Given the description of an element on the screen output the (x, y) to click on. 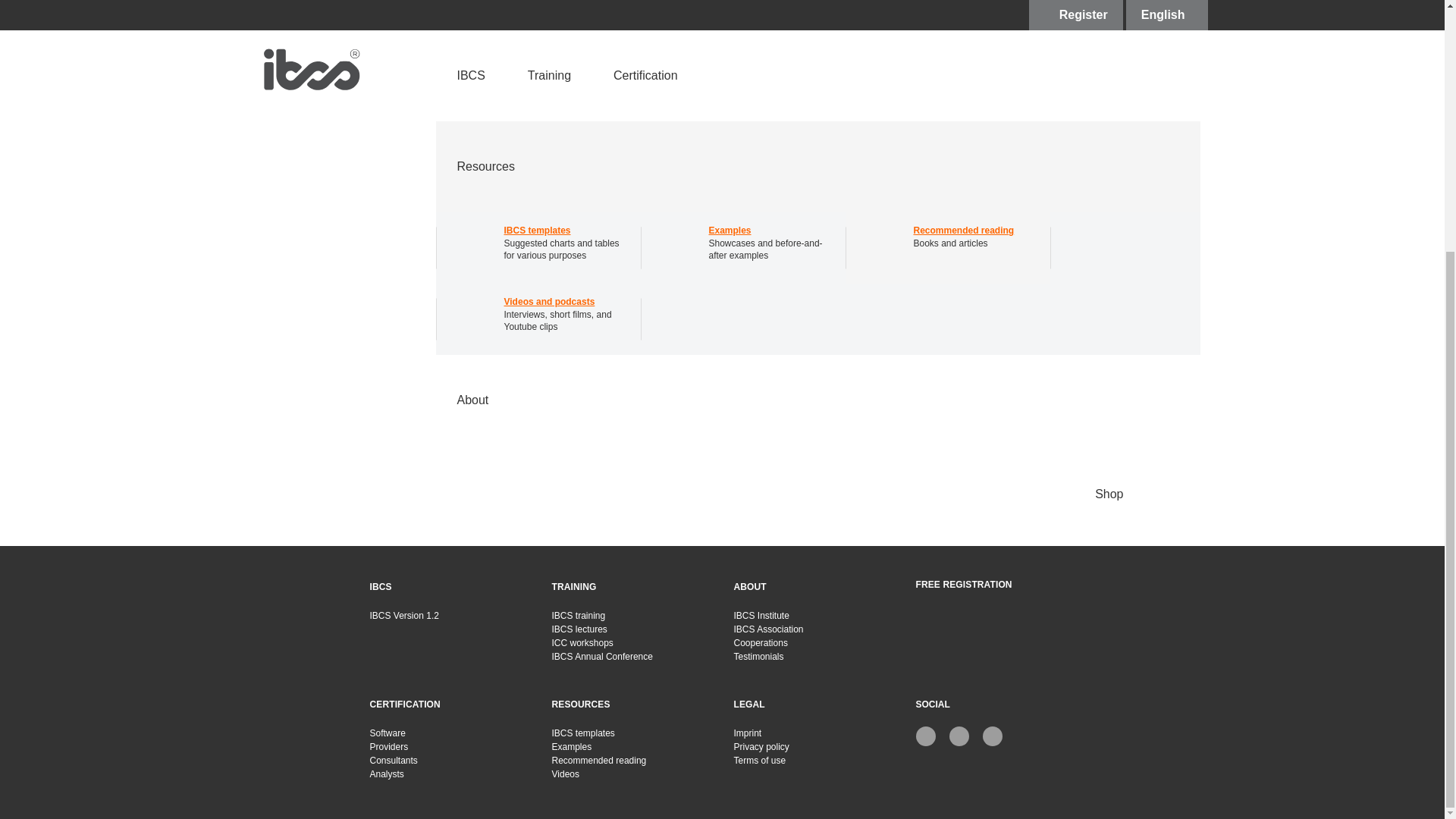
View profile (1012, 170)
IBCS (380, 586)
Open Cookie Preferences (32, 444)
